Given the description of an element on the screen output the (x, y) to click on. 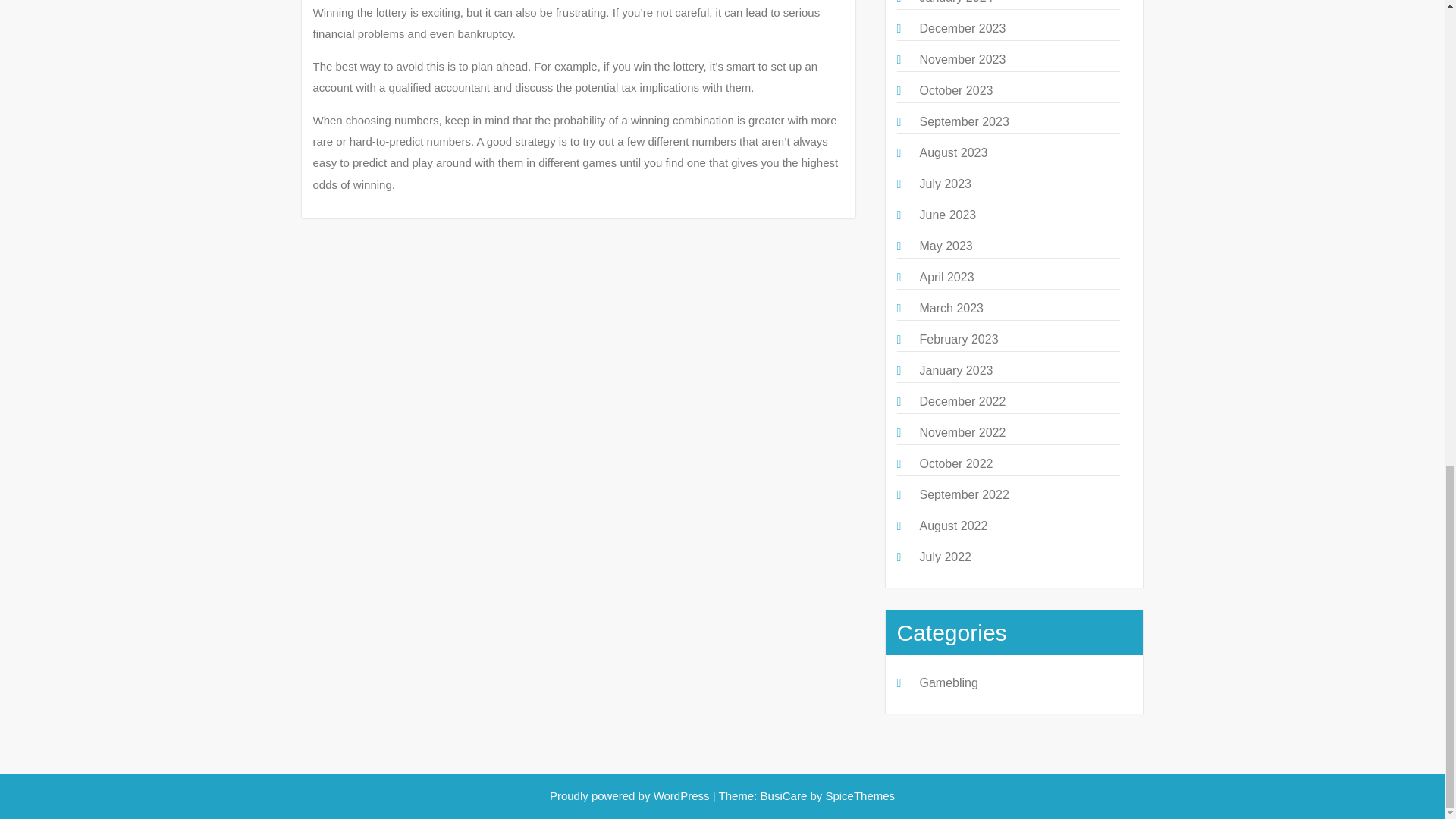
November 2022 (962, 431)
July 2022 (944, 556)
February 2023 (957, 338)
December 2023 (962, 28)
October 2023 (955, 90)
January 2023 (955, 369)
March 2023 (951, 308)
August 2022 (952, 525)
August 2023 (952, 152)
Gamebling (947, 682)
